Given the description of an element on the screen output the (x, y) to click on. 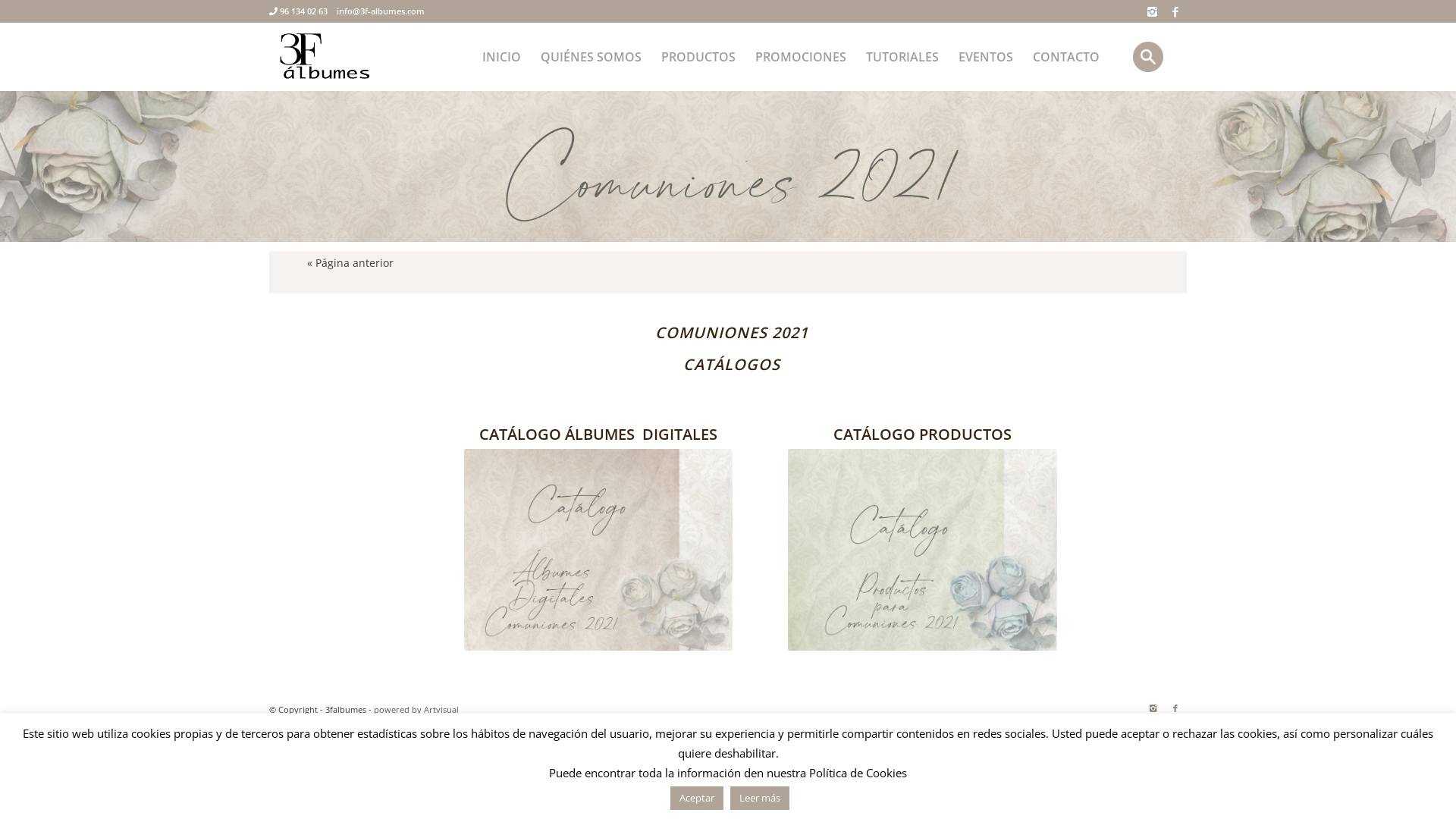
PRODUCTOS Element type: text (698, 56)
TUTORIALES Element type: text (902, 56)
Facebook Element type: hover (1175, 11)
Instagram Element type: hover (1152, 11)
CONTACTO Element type: text (1065, 56)
Instagram Element type: hover (1152, 707)
PROMOCIONES Element type: text (800, 56)
powered by Artvisual Element type: text (415, 709)
Aceptar Element type: text (696, 797)
EVENTOS Element type: text (985, 56)
Facebook Element type: hover (1175, 707)
INICIO Element type: text (501, 56)
